Given the description of an element on the screen output the (x, y) to click on. 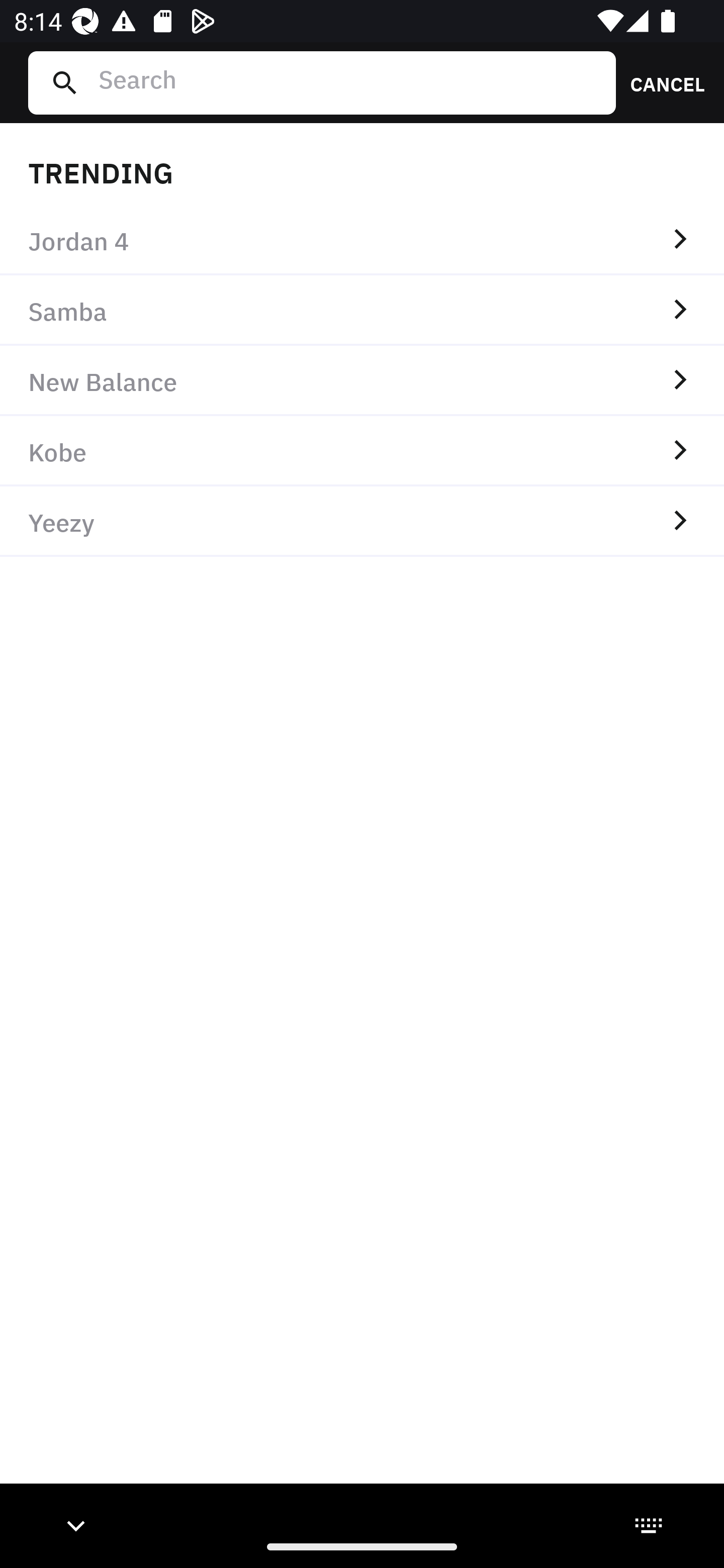
CANCEL (660, 82)
Search (349, 82)
Jordan 4  (362, 240)
Samba  (362, 310)
New Balance  (362, 380)
Kobe  (362, 450)
Yeezy  (362, 521)
